Given the description of an element on the screen output the (x, y) to click on. 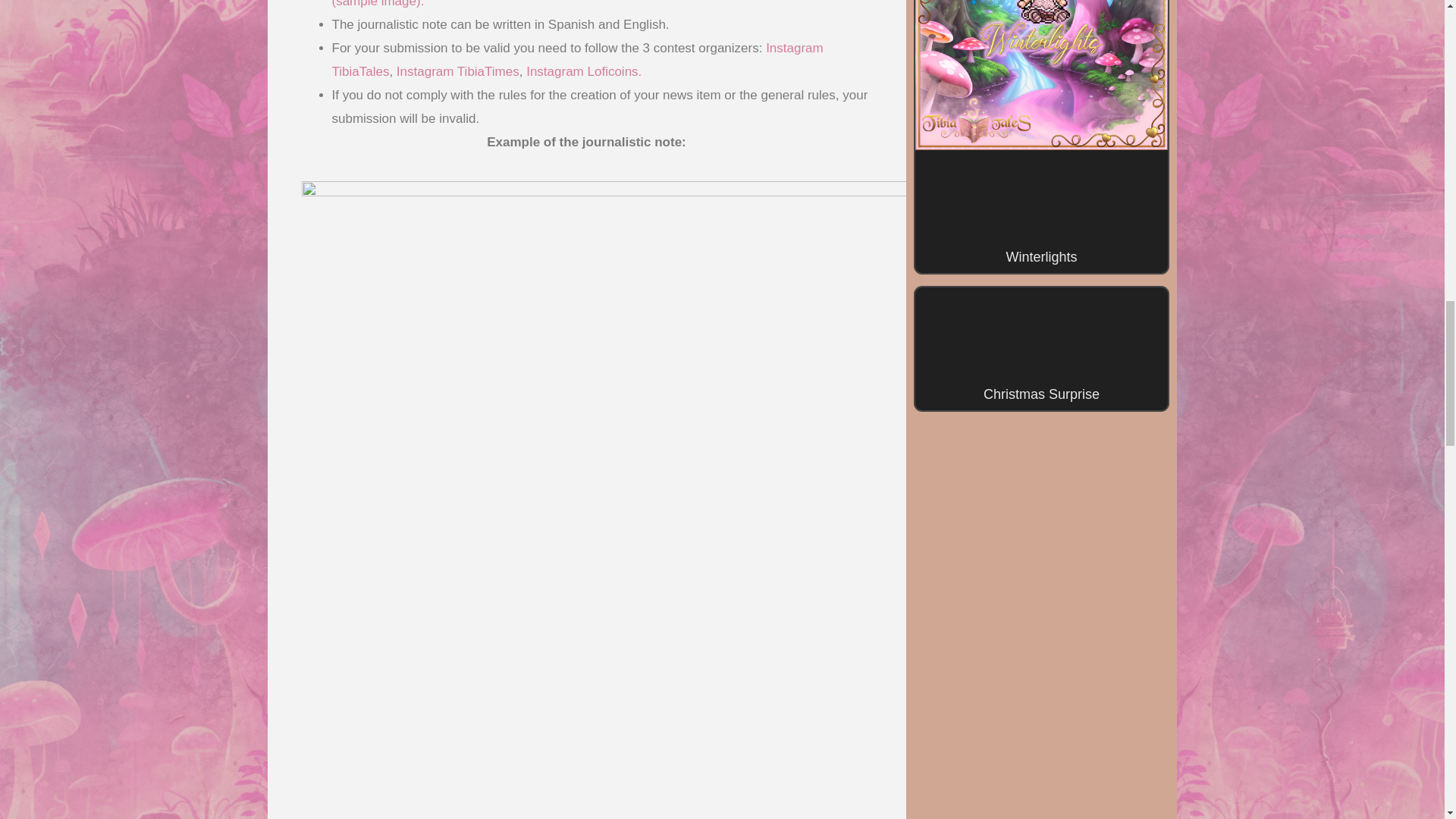
Instagram TibiaTales (577, 59)
Instagram Loficoins. (583, 71)
Instagram TibiaTimes (457, 71)
